Given the description of an element on the screen output the (x, y) to click on. 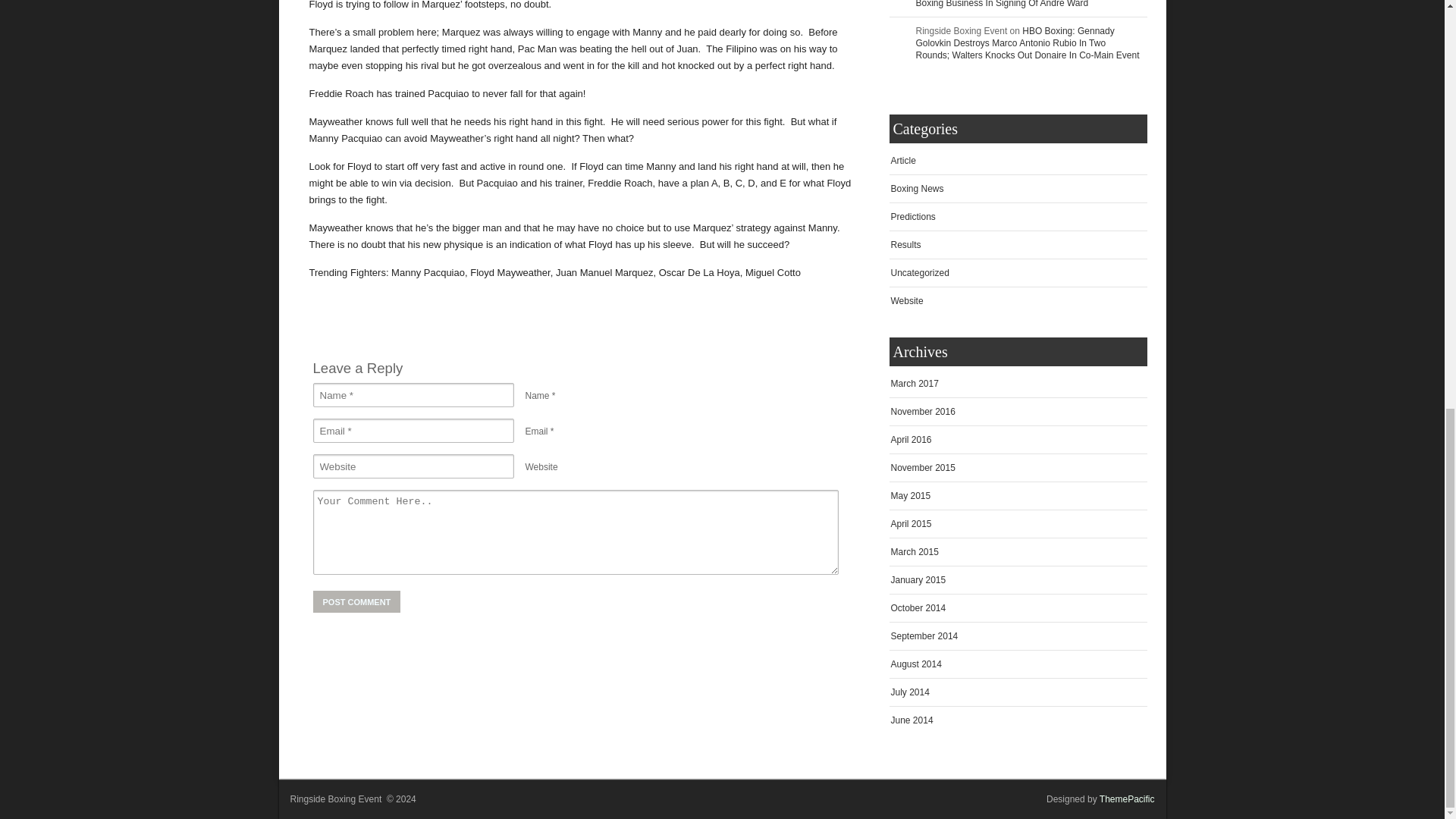
November 2016 (922, 411)
Article (902, 159)
Post Comment (356, 601)
Predictions (911, 215)
Boxing News (916, 188)
Post Comment (356, 601)
ThemePacific (1126, 798)
May 2015 (909, 494)
